Given the description of an element on the screen output the (x, y) to click on. 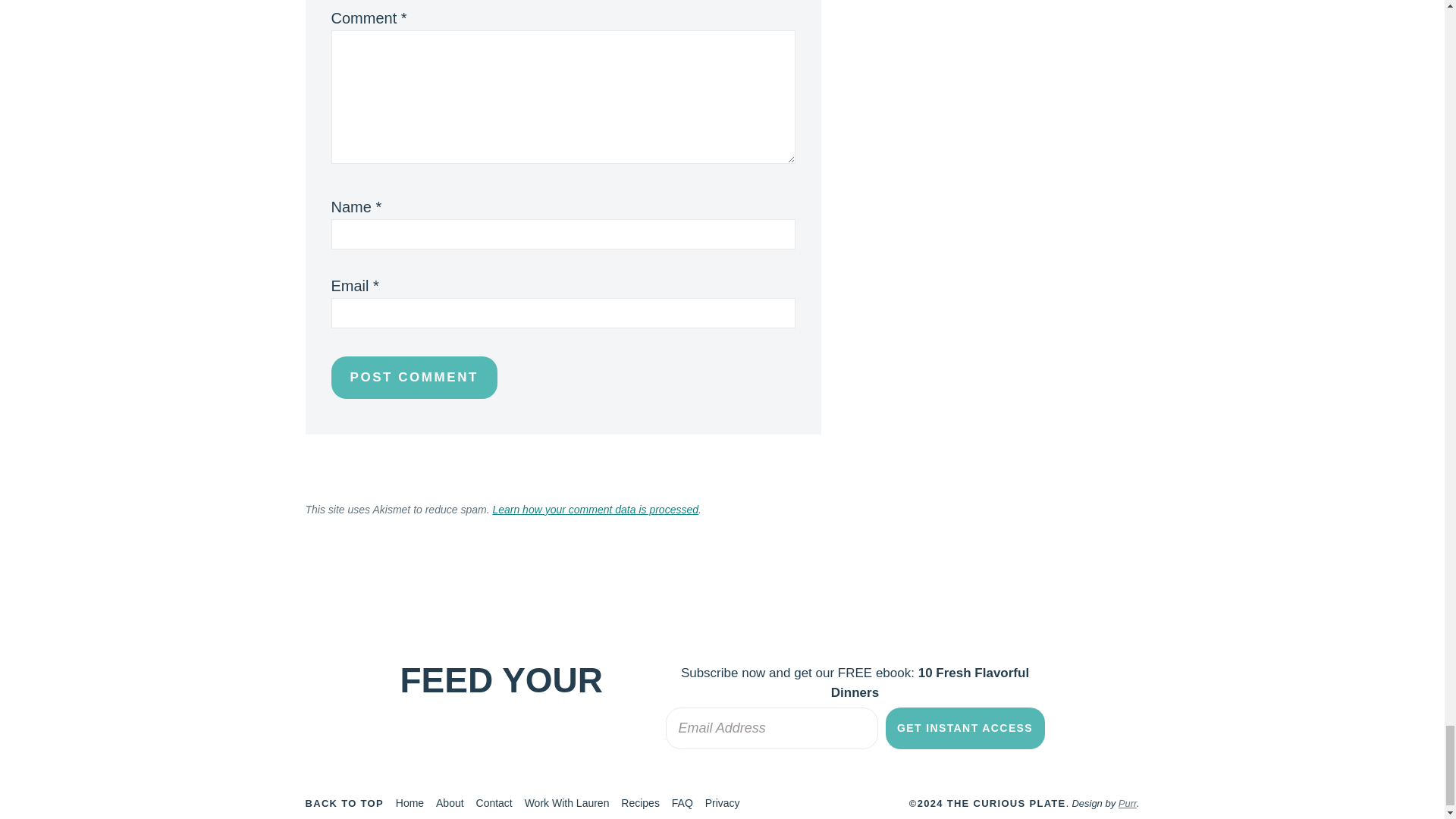
Post Comment (413, 377)
